Given the description of an element on the screen output the (x, y) to click on. 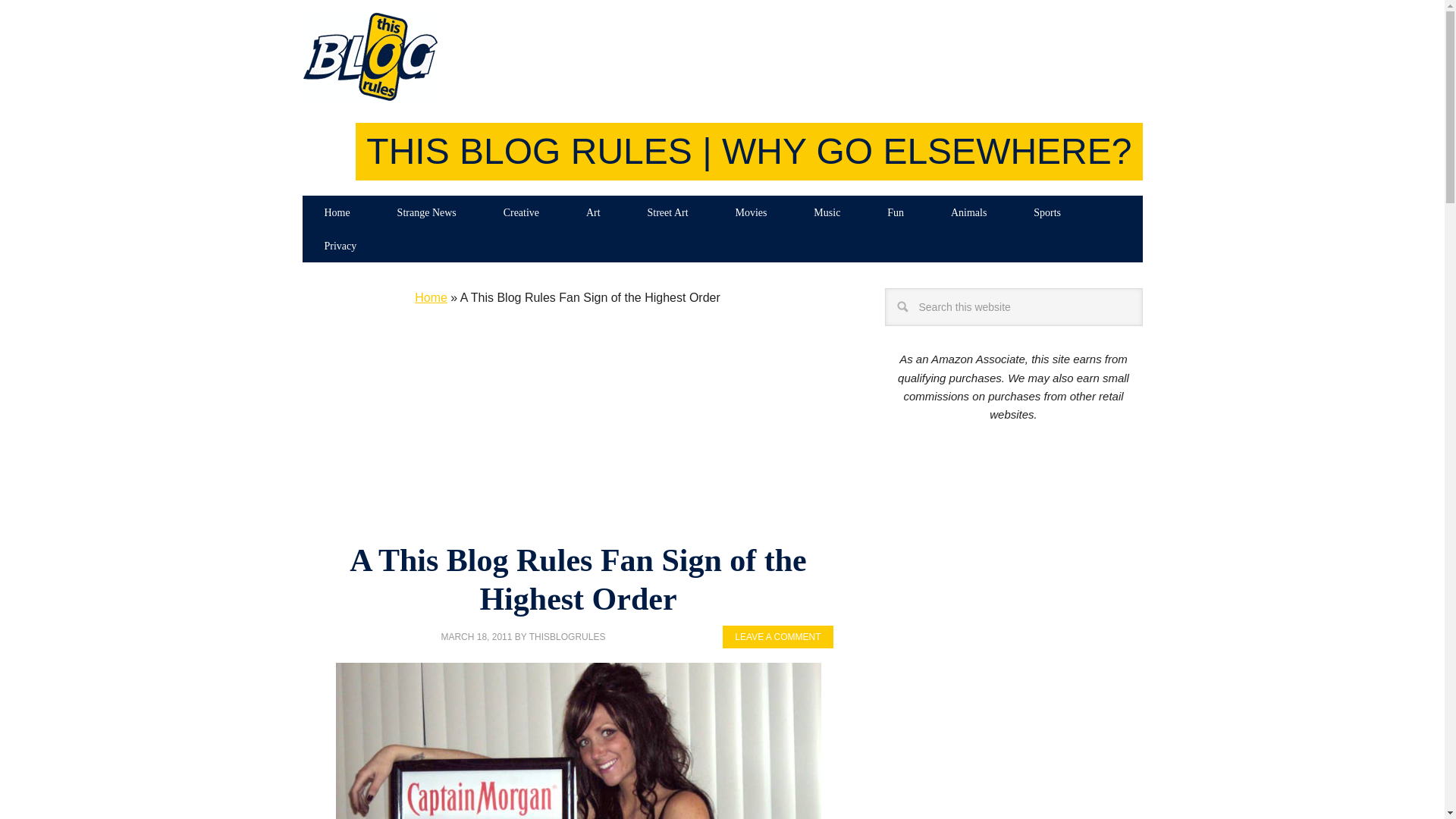
Home (430, 297)
Advertisement (566, 428)
Music (826, 212)
Art (593, 212)
Sports (1047, 212)
Animals (968, 212)
Fun (895, 212)
Privacy (339, 245)
Strange News (427, 212)
Home (336, 212)
